Given the description of an element on the screen output the (x, y) to click on. 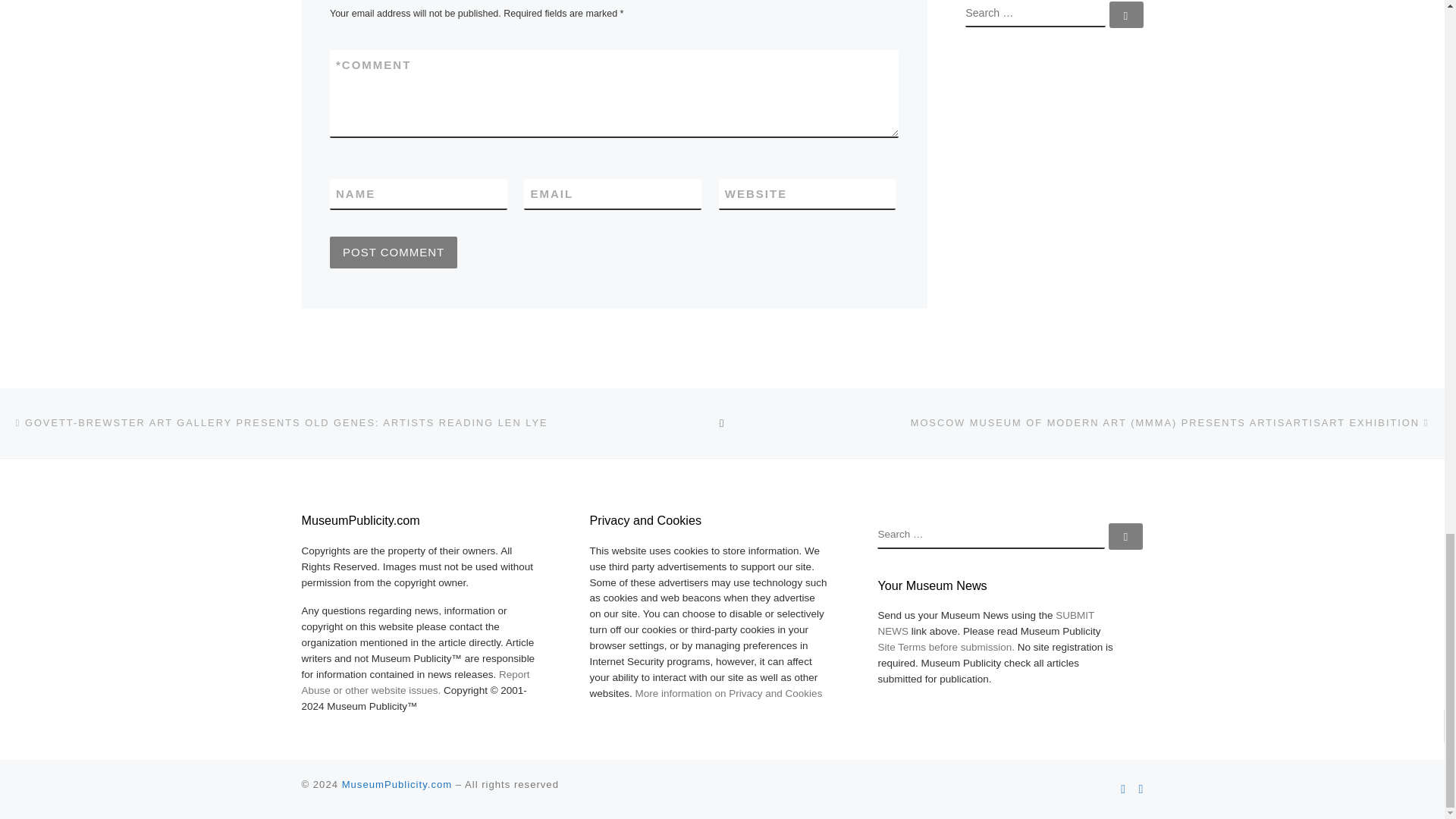
Post Comment (393, 252)
MuseumPublicity.com (397, 784)
Post Comment (393, 252)
